Given the description of an element on the screen output the (x, y) to click on. 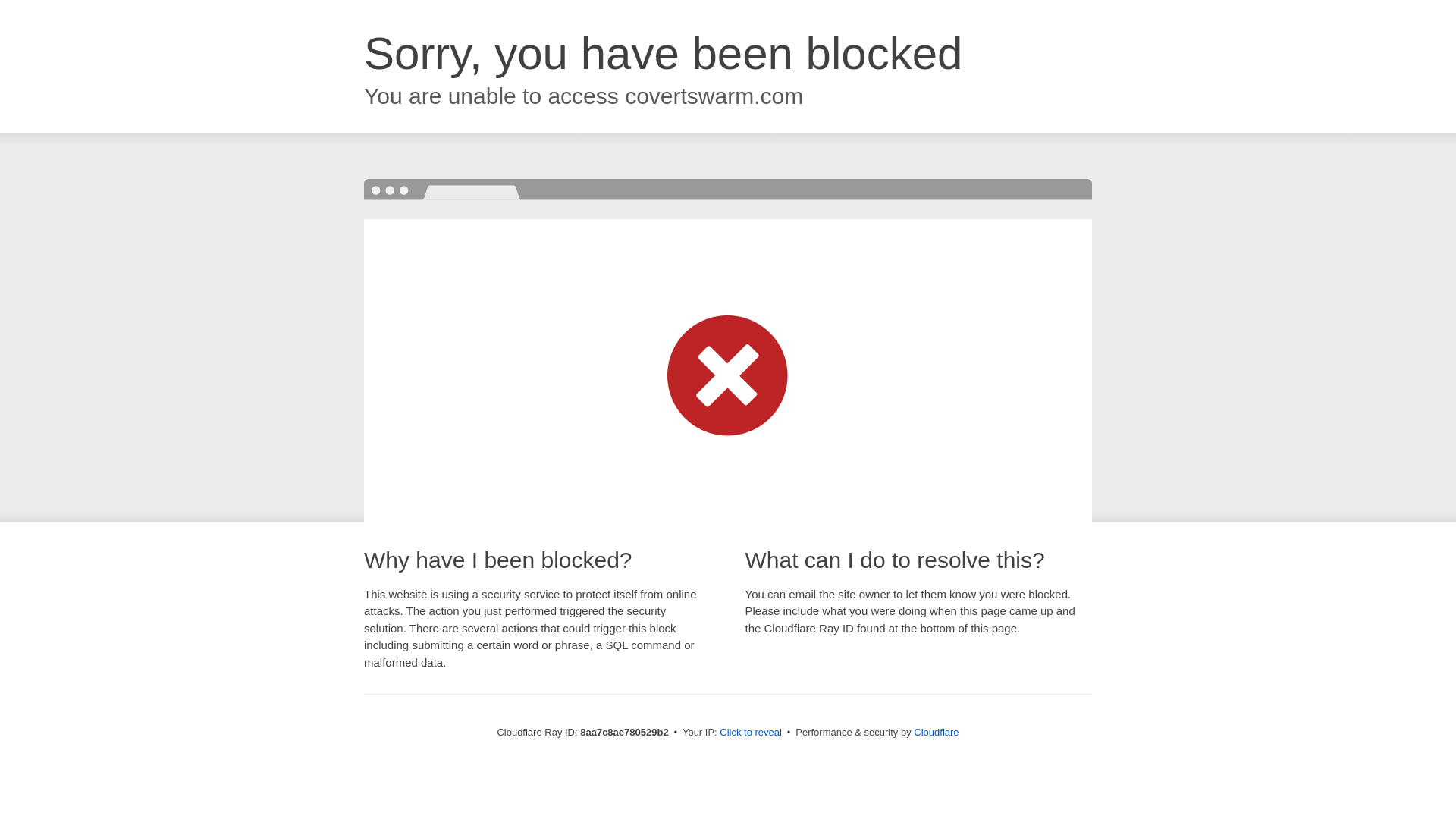
Click to reveal (750, 732)
Cloudflare (936, 731)
